Given the description of an element on the screen output the (x, y) to click on. 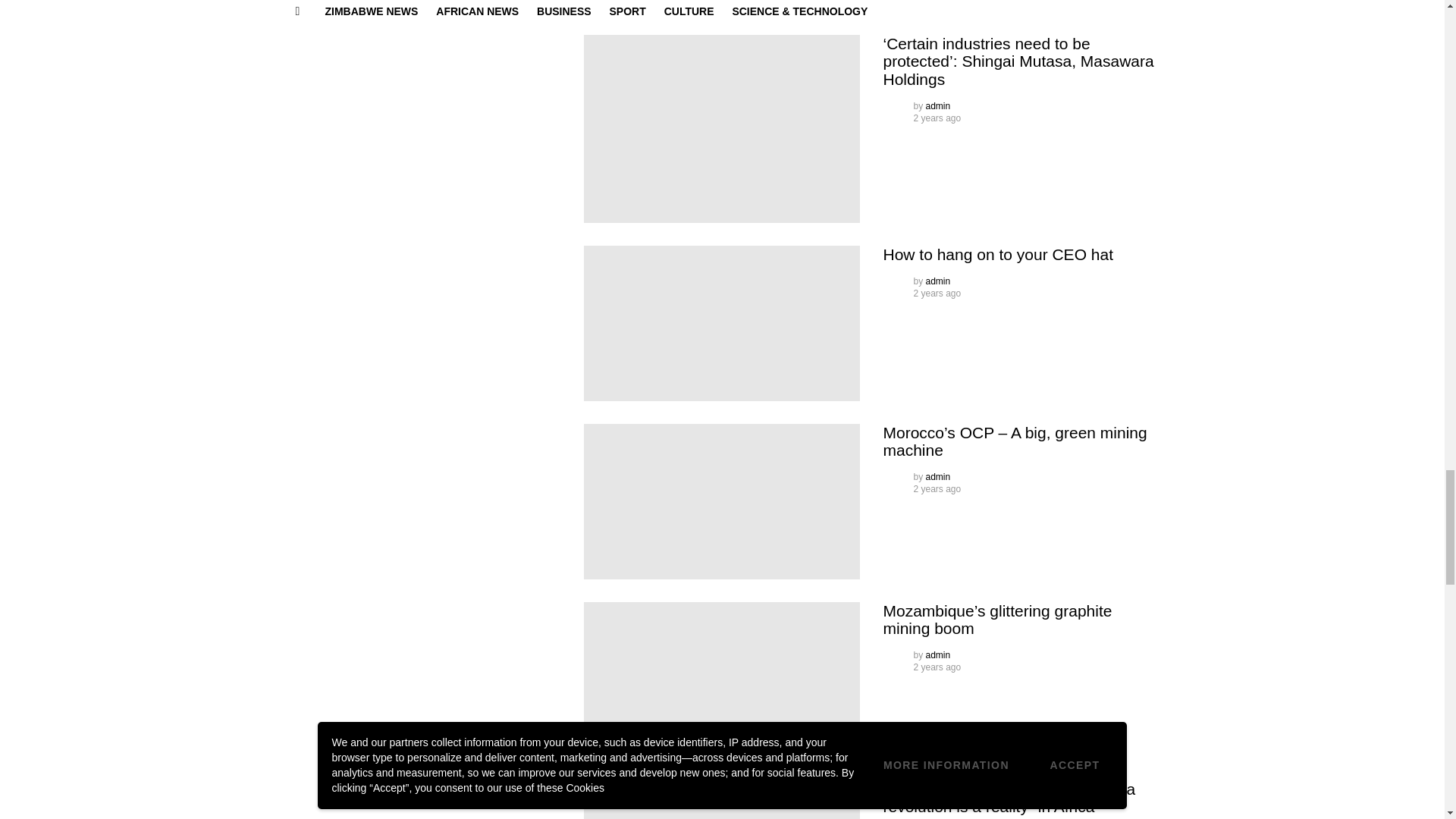
Posts by admin (938, 281)
Posts by admin (938, 105)
October 13, 2022, 10:03 am (936, 118)
How to hang on to your CEO hat (721, 323)
